Given the description of an element on the screen output the (x, y) to click on. 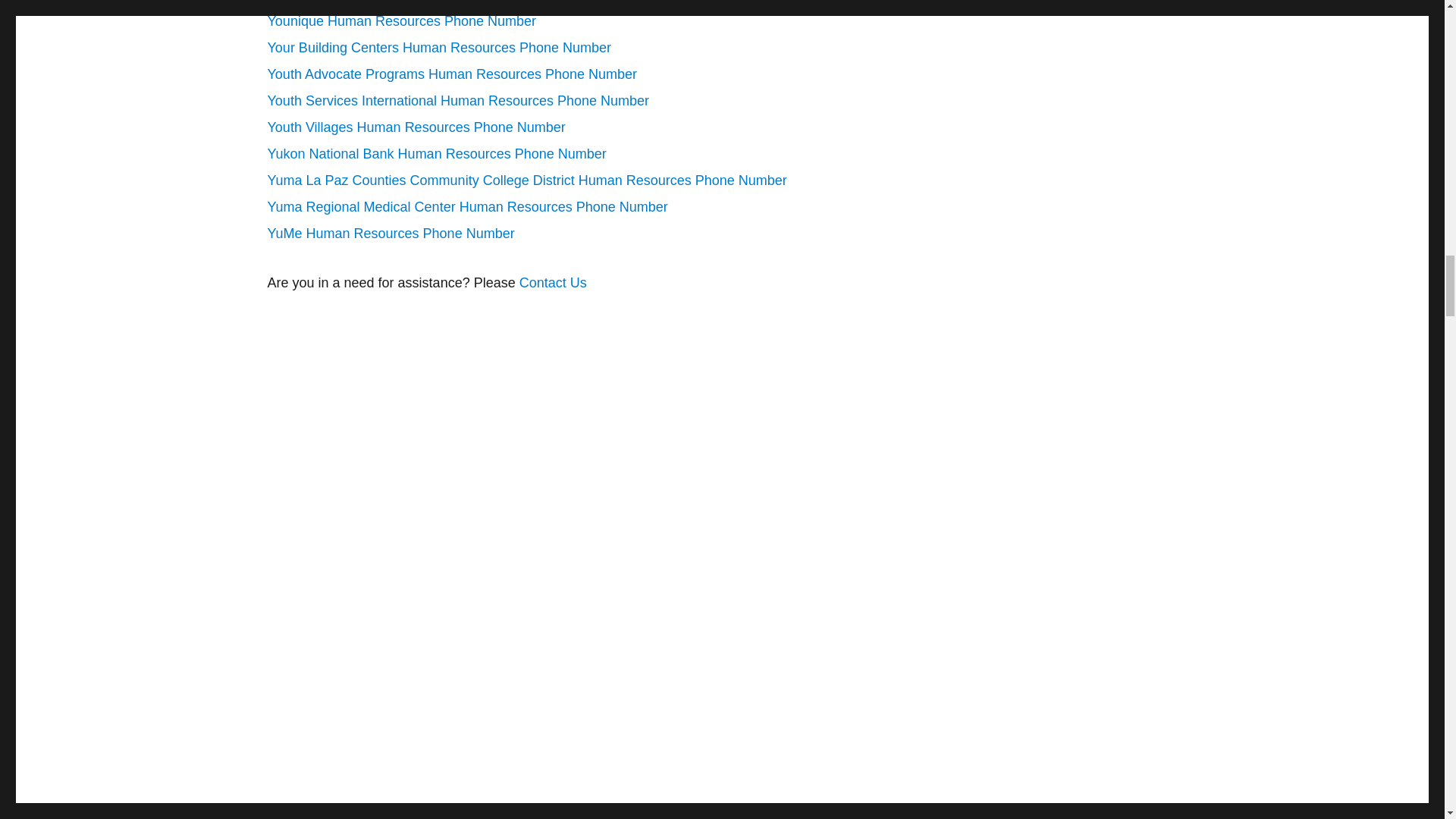
Your Building Centers Human Resources Phone Number (438, 47)
Youth Advocate Programs Human Resources Phone Number (451, 73)
Yuma Regional Medical Center Human Resources Phone Number (466, 206)
YuMe Human Resources Phone Number (389, 233)
Younique Human Resources Phone Number (400, 20)
Youth Villages Human Resources Phone Number (415, 127)
Yukon National Bank Human Resources Phone Number (435, 153)
Contact Us (550, 282)
Youth Services International Human Resources Phone Number (457, 100)
